Given the description of an element on the screen output the (x, y) to click on. 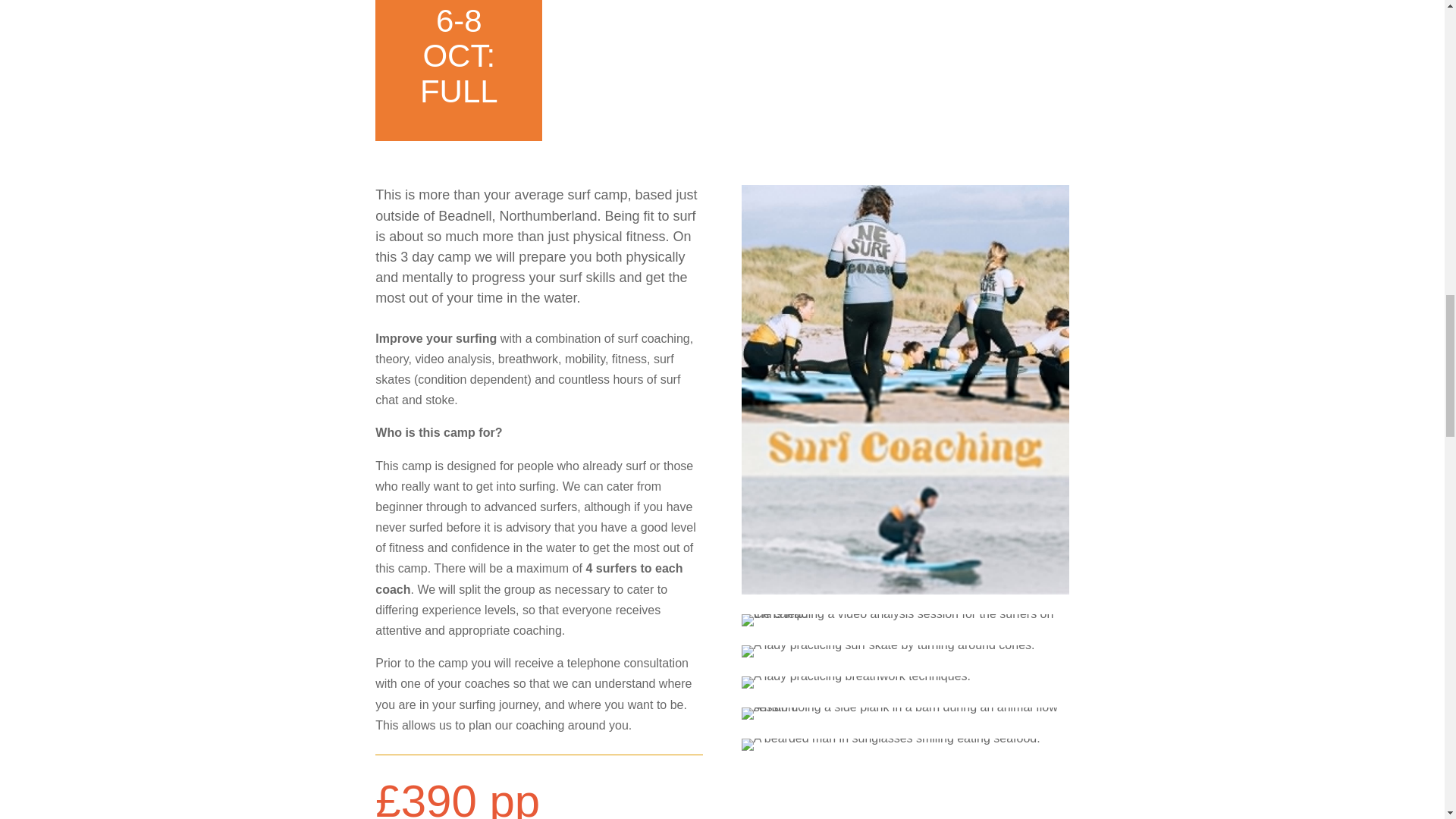
A lady practicing breathwork techniques. (856, 682)
A bearded man in sunglasses smiling eating seafood. (891, 744)
A lady practicing surf skate by turning around cones. (888, 651)
